Given the description of an element on the screen output the (x, y) to click on. 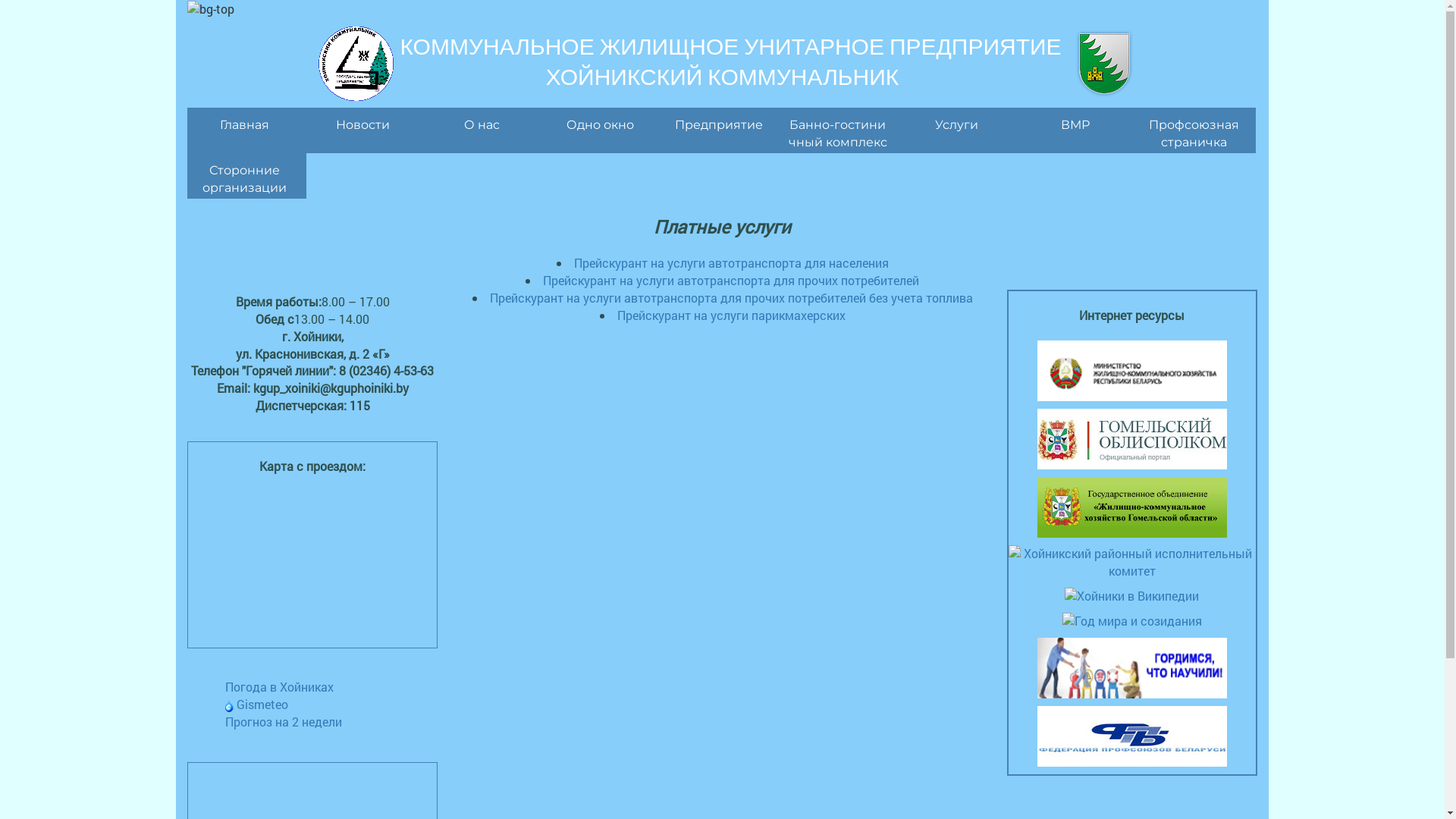
Gismeteo Element type: hover (229, 705)
Gismeteo Element type: text (256, 704)
